Given the description of an element on the screen output the (x, y) to click on. 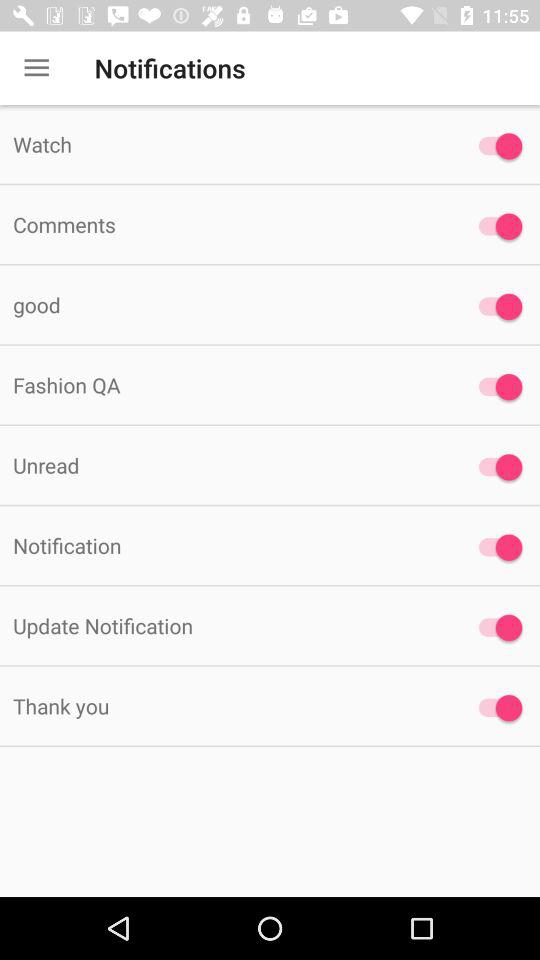
toggle comments option (495, 226)
